Given the description of an element on the screen output the (x, y) to click on. 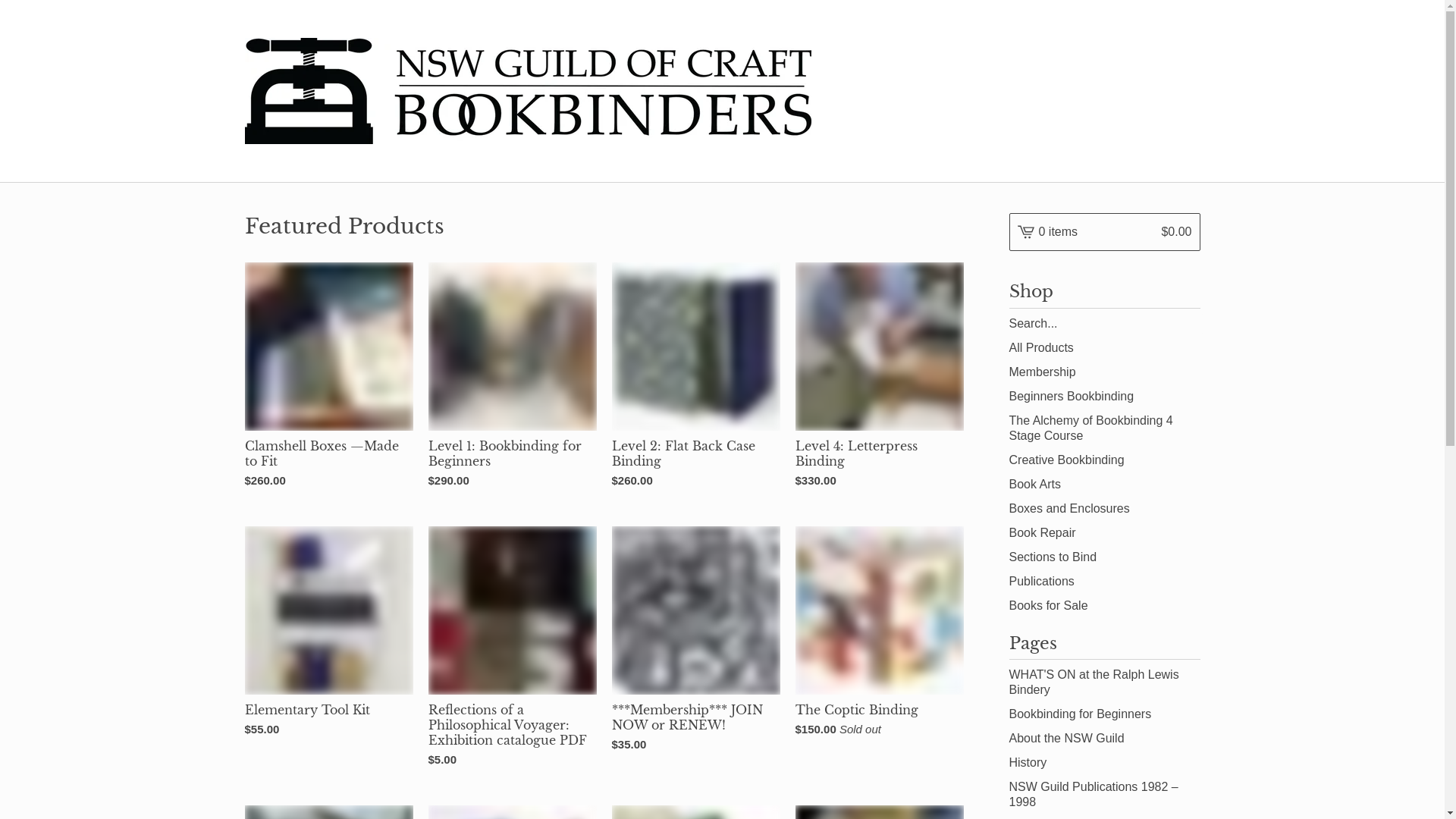
The Alchemy of Bookbinding 4 Stage Course Element type: text (1103, 428)
Level 4: Letterpress Binding
$330.00 Element type: text (878, 378)
Bookbinding for Beginners Element type: text (1103, 714)
Books for Sale Element type: text (1103, 605)
Membership Element type: text (1103, 372)
The Coptic Binding
$150.00 Sold out Element type: text (878, 635)
About the NSW Guild Element type: text (1103, 738)
Creative Bookbinding Element type: text (1103, 460)
Book Arts Element type: text (1103, 484)
Book Repair Element type: text (1103, 532)
Level 1: Bookbinding for Beginners
$290.00 Element type: text (511, 378)
All Products Element type: text (1103, 347)
Boxes and Enclosures Element type: text (1103, 508)
WHAT'S ON at the Ralph Lewis Bindery Element type: text (1103, 682)
Beginners Bookbinding Element type: text (1103, 396)
***Membership*** JOIN NOW or RENEW!
$35.00 Element type: text (695, 642)
Elementary Tool Kit
$55.00 Element type: text (328, 635)
0 items
$0.00 Element type: text (1103, 232)
NSWbookbinders Element type: hover (527, 90)
History Element type: text (1103, 762)
Level 2: Flat Back Case Binding
$260.00 Element type: text (695, 378)
Publications Element type: text (1103, 581)
Sections to Bind Element type: text (1103, 557)
